Given the description of an element on the screen output the (x, y) to click on. 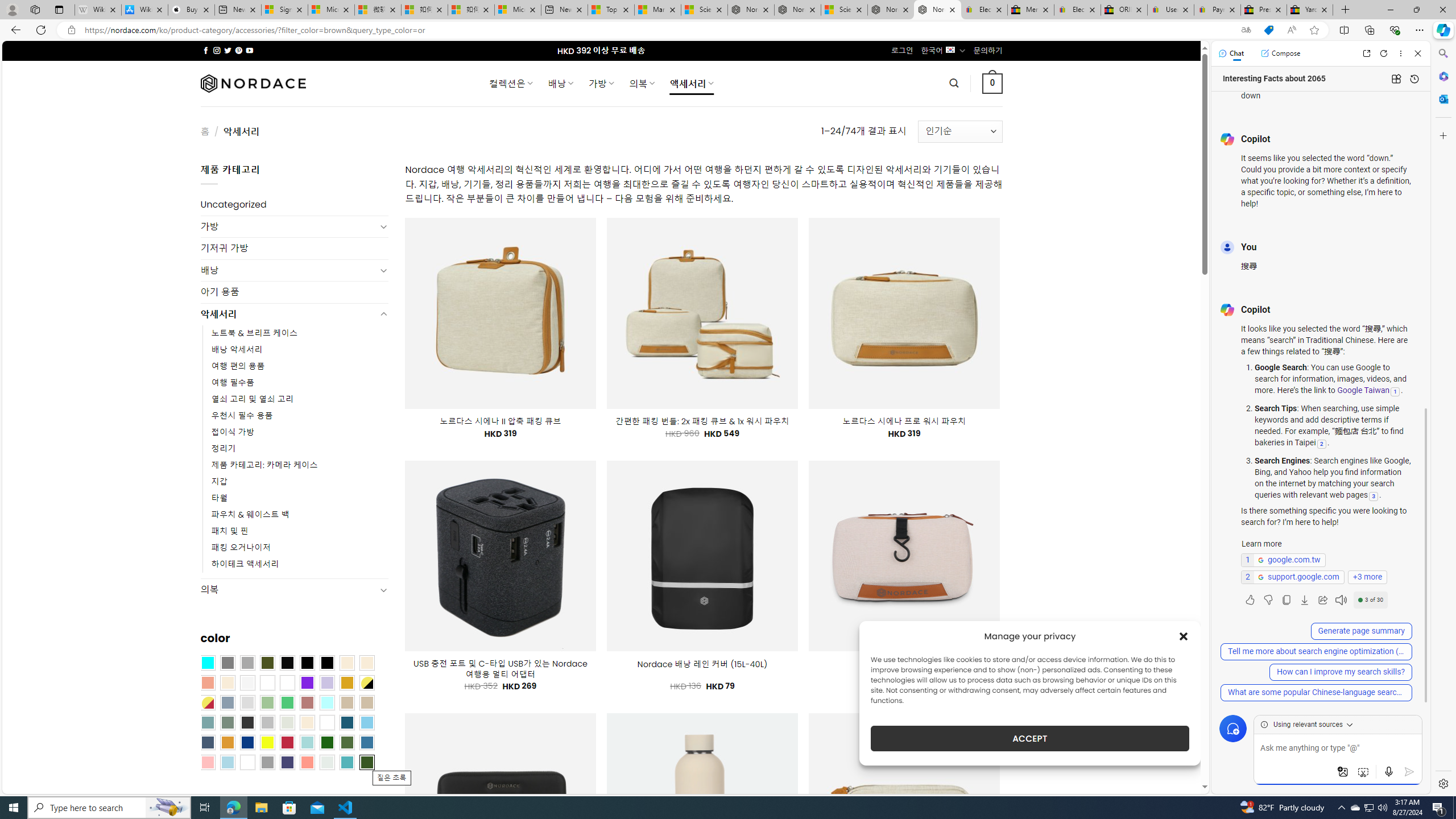
Follow on Facebook (205, 50)
Purple (306, 681)
